Given the description of an element on the screen output the (x, y) to click on. 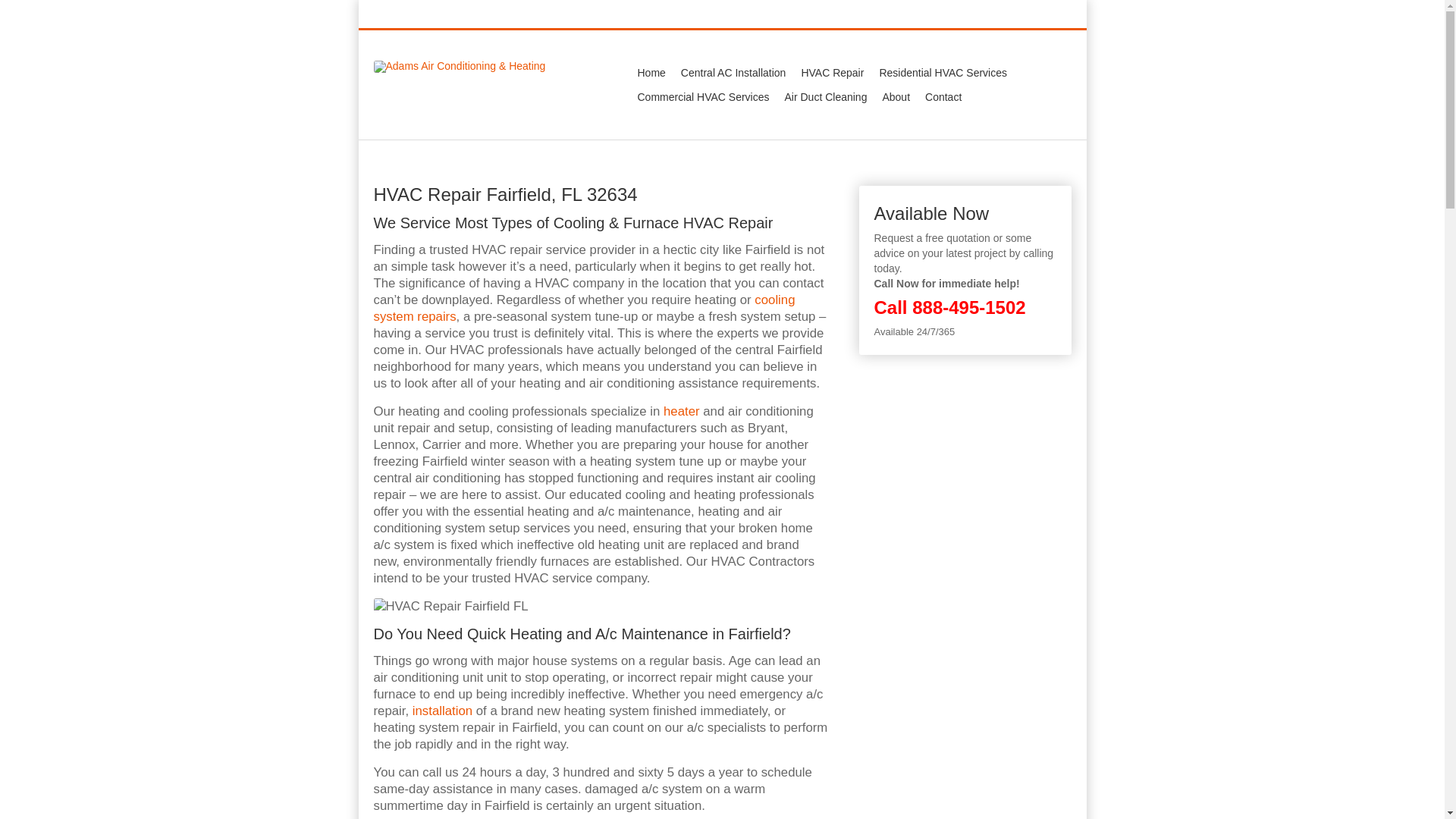
About (895, 96)
Contact (943, 96)
Commercial HVAC Services (702, 96)
Central AC Installation (733, 72)
888-495-1502 (968, 307)
888-495-1502 (1034, 15)
HVAC Repair (831, 72)
heater (681, 411)
cooling system repairs (583, 307)
installation (441, 710)
Home (650, 72)
Air Duct Cleaning (824, 96)
HVAC Repair Fairfield Florida (449, 606)
Residential HVAC Services (942, 72)
